Given the description of an element on the screen output the (x, y) to click on. 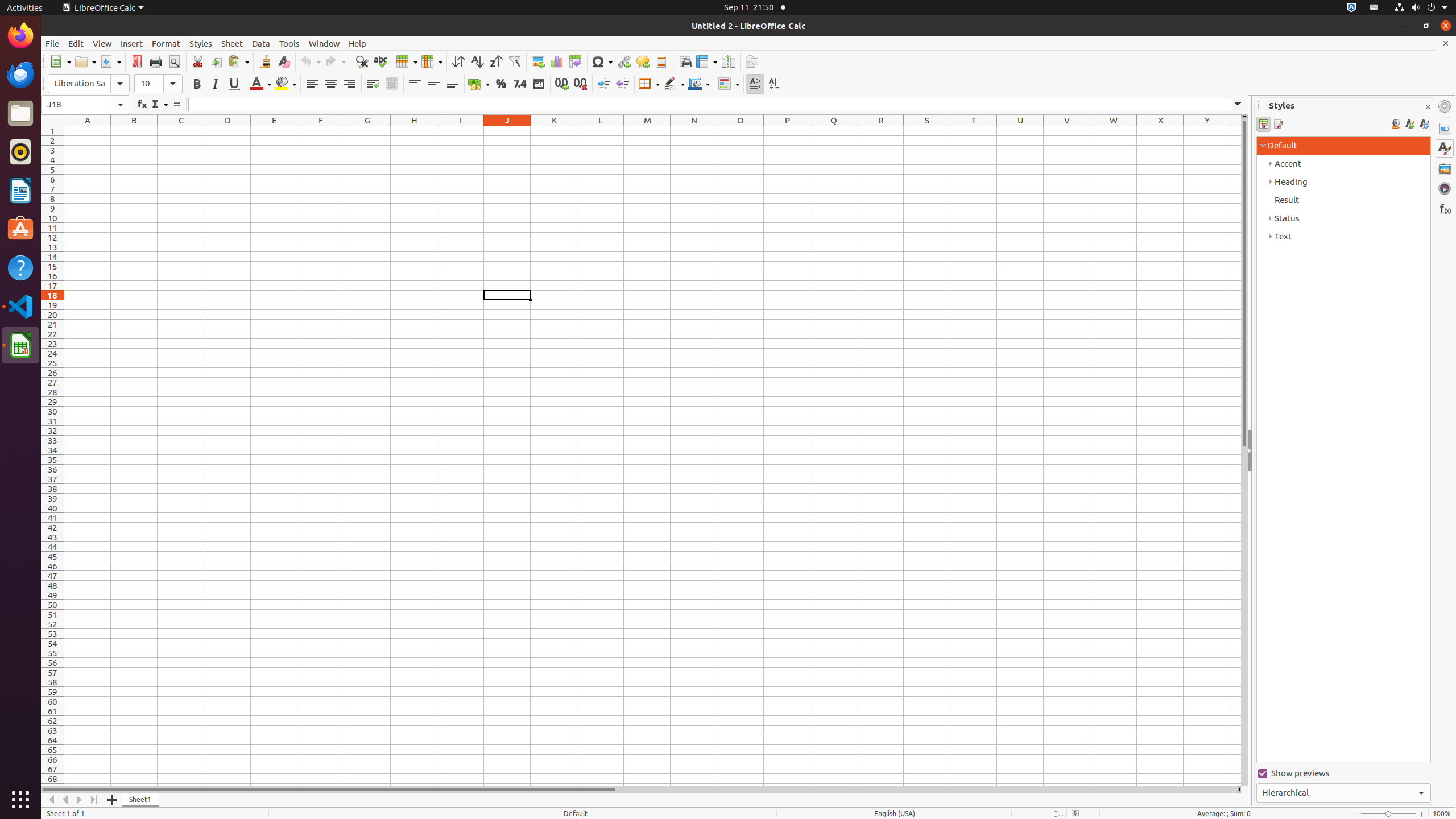
Align Center Element type: push-button (330, 83)
Cut Element type: push-button (197, 61)
Paste Element type: push-button (237, 61)
